Given the description of an element on the screen output the (x, y) to click on. 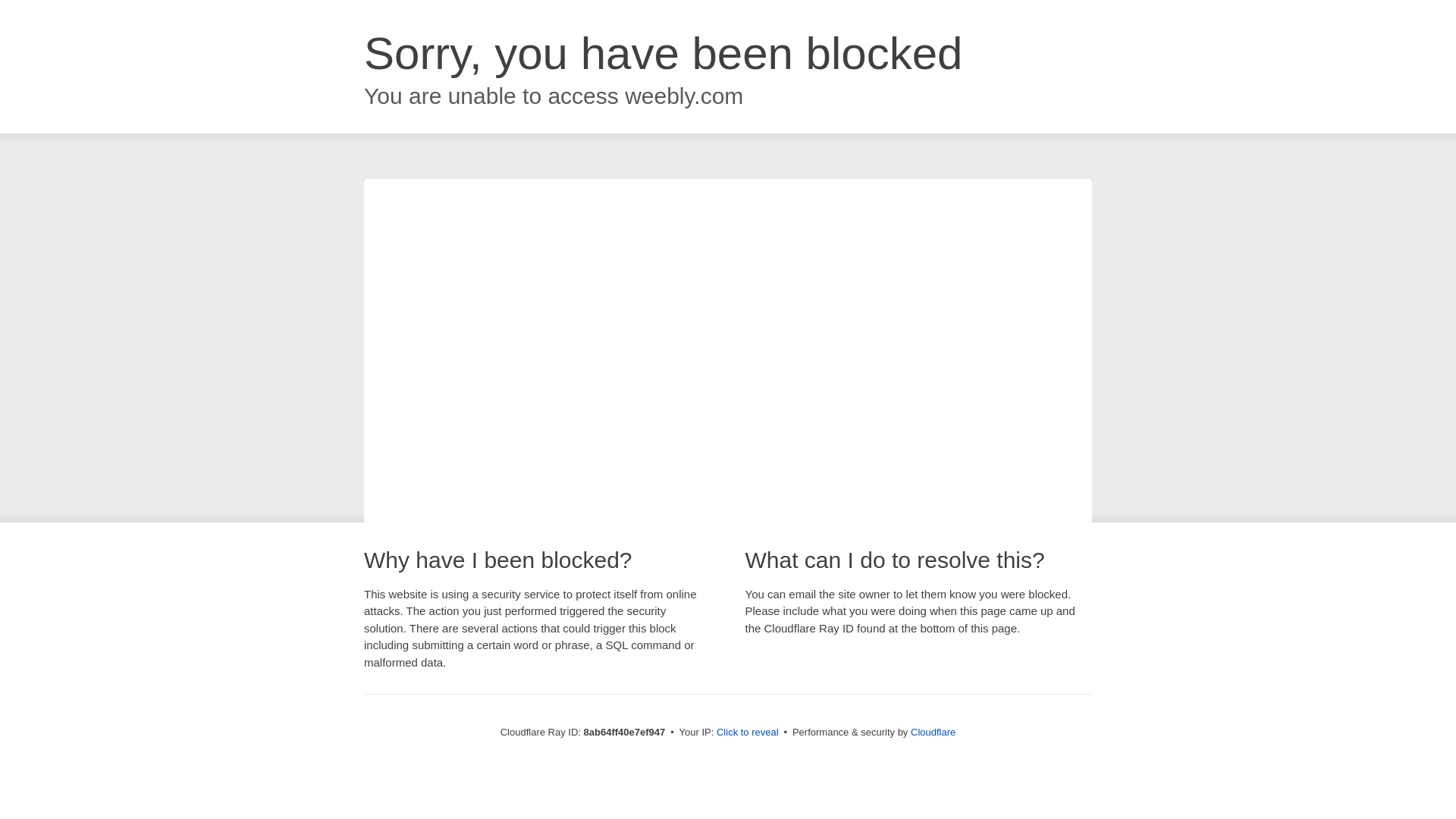
Cloudflare (933, 731)
Click to reveal (747, 732)
